Given the description of an element on the screen output the (x, y) to click on. 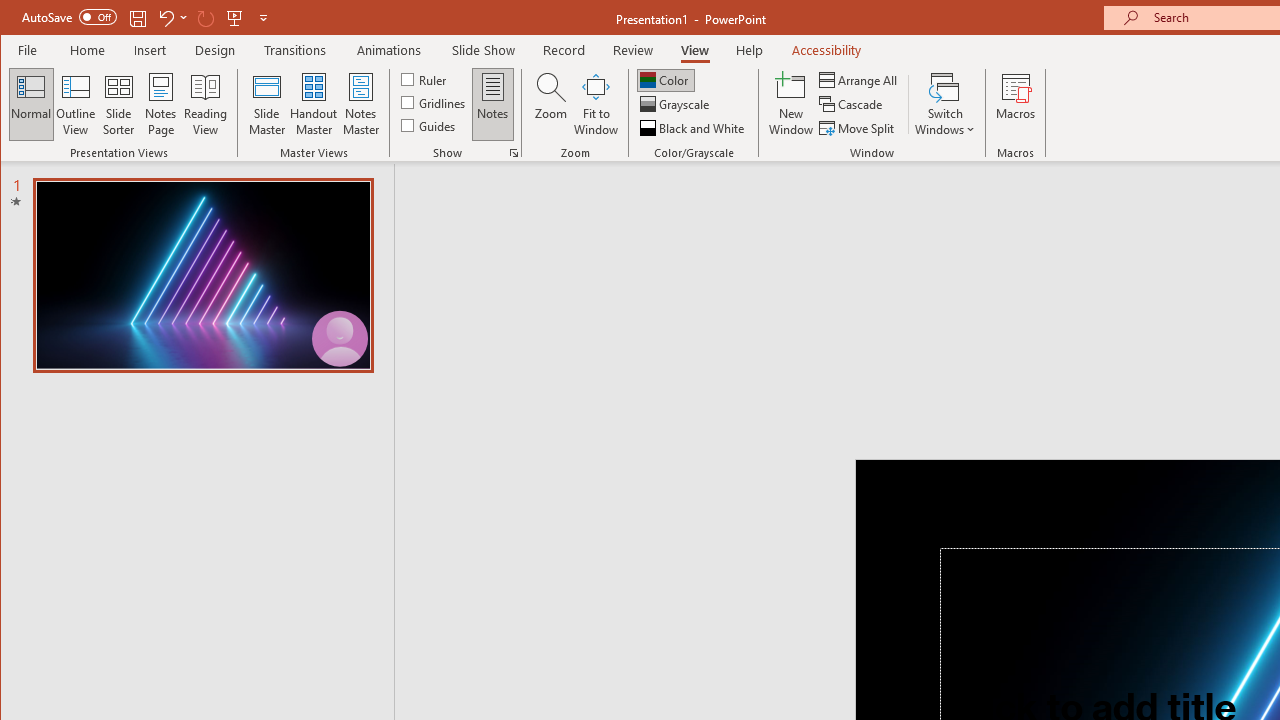
Outline View (75, 104)
